Given the description of an element on the screen output the (x, y) to click on. 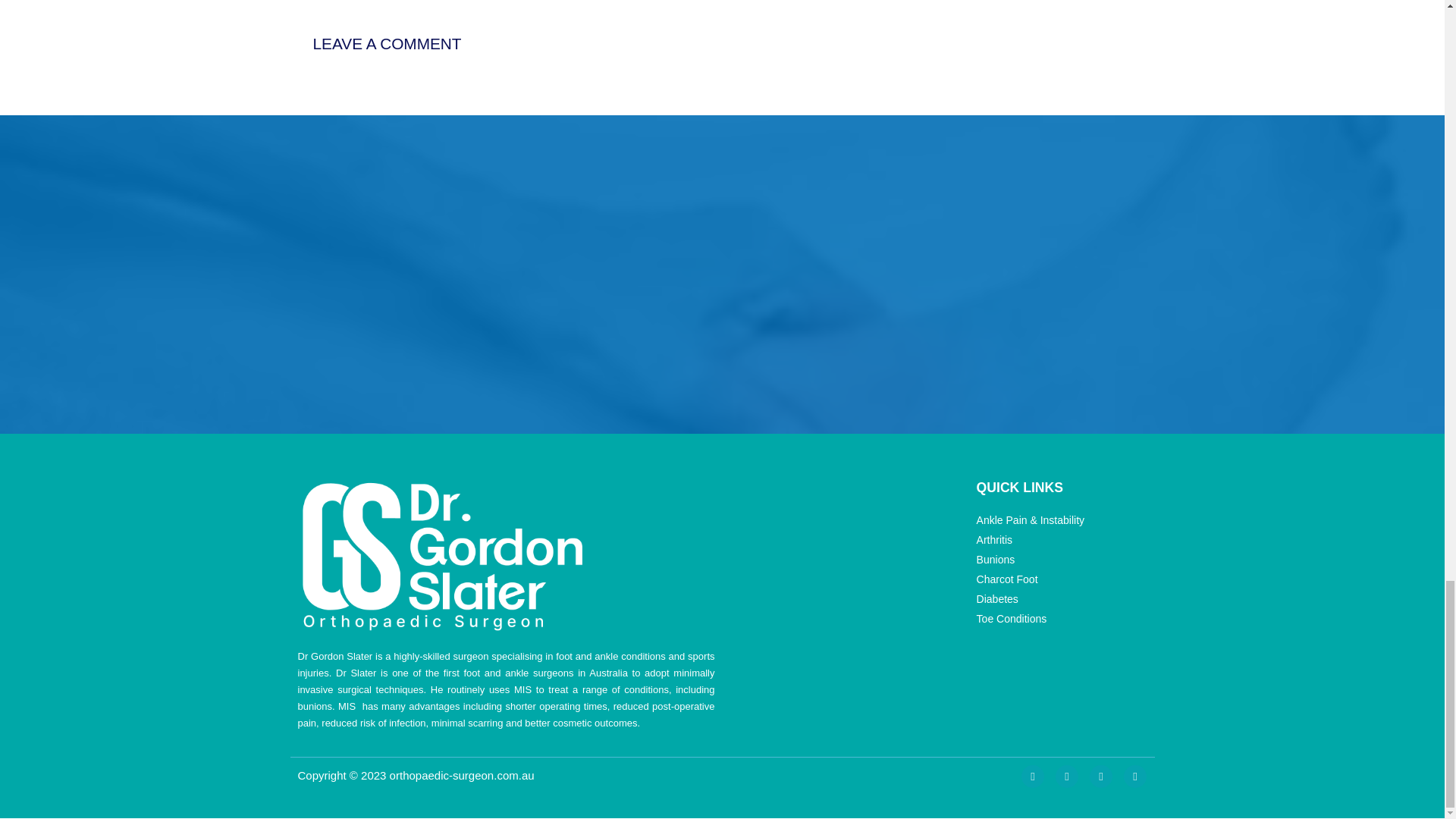
Arthritis (1060, 540)
Linkedin-in (1100, 775)
Toe Conditions (1060, 619)
Dr Gordon Slater, Albury (1016, 274)
Charcot Foot (1060, 579)
Bunions (1060, 560)
Twitter (1066, 775)
Instagram (1032, 775)
Youtube (1135, 775)
Diabetes (1060, 599)
